Given the description of an element on the screen output the (x, y) to click on. 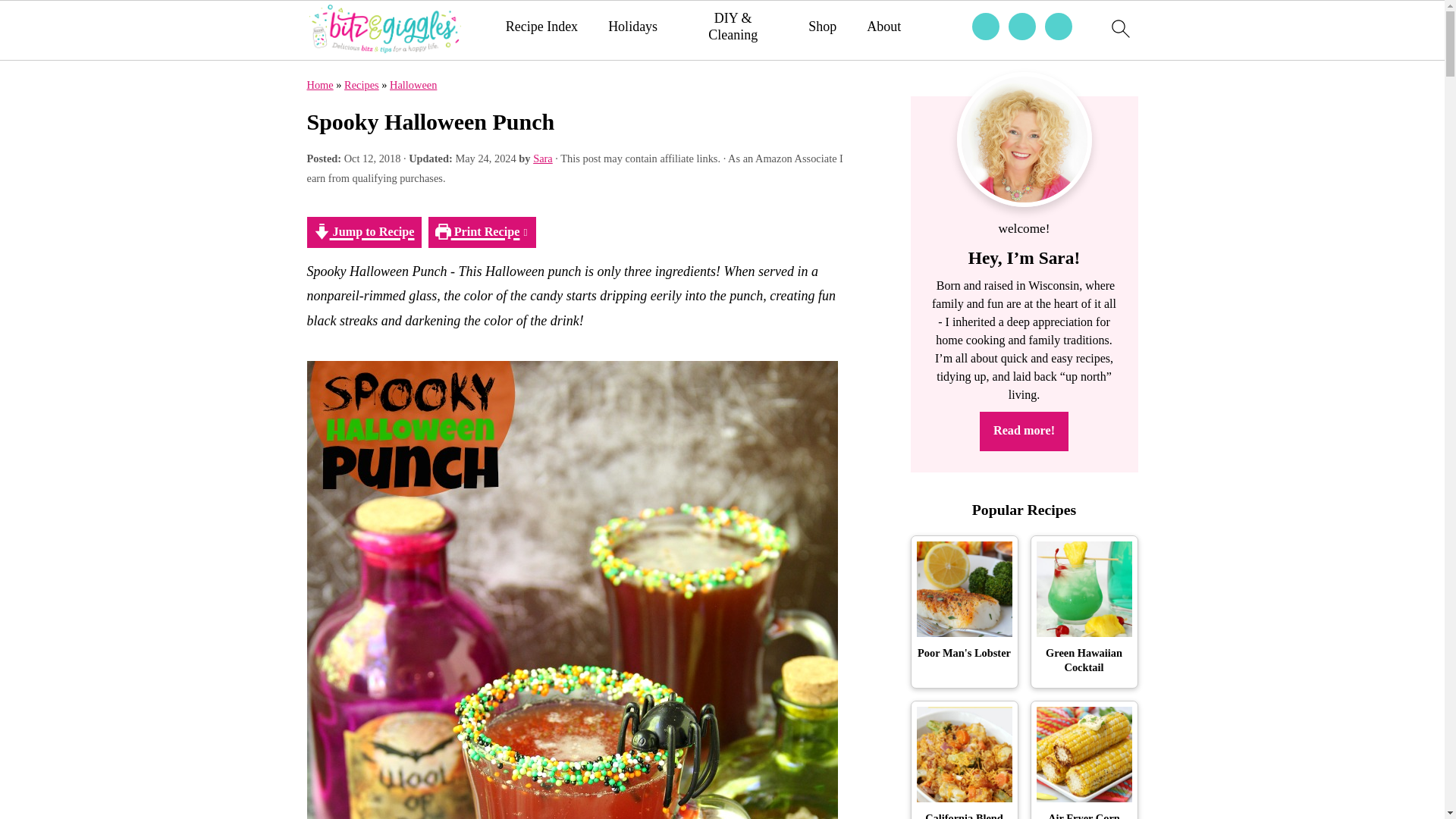
Home (319, 84)
Shop (821, 27)
search icon (1119, 30)
Recipe Index (541, 27)
About (883, 27)
Recipes (360, 84)
Print Recipe (482, 232)
Halloween (413, 84)
Sara (542, 158)
search icon (1119, 28)
Jump to Recipe (362, 232)
Holidays (633, 27)
